Given the description of an element on the screen output the (x, y) to click on. 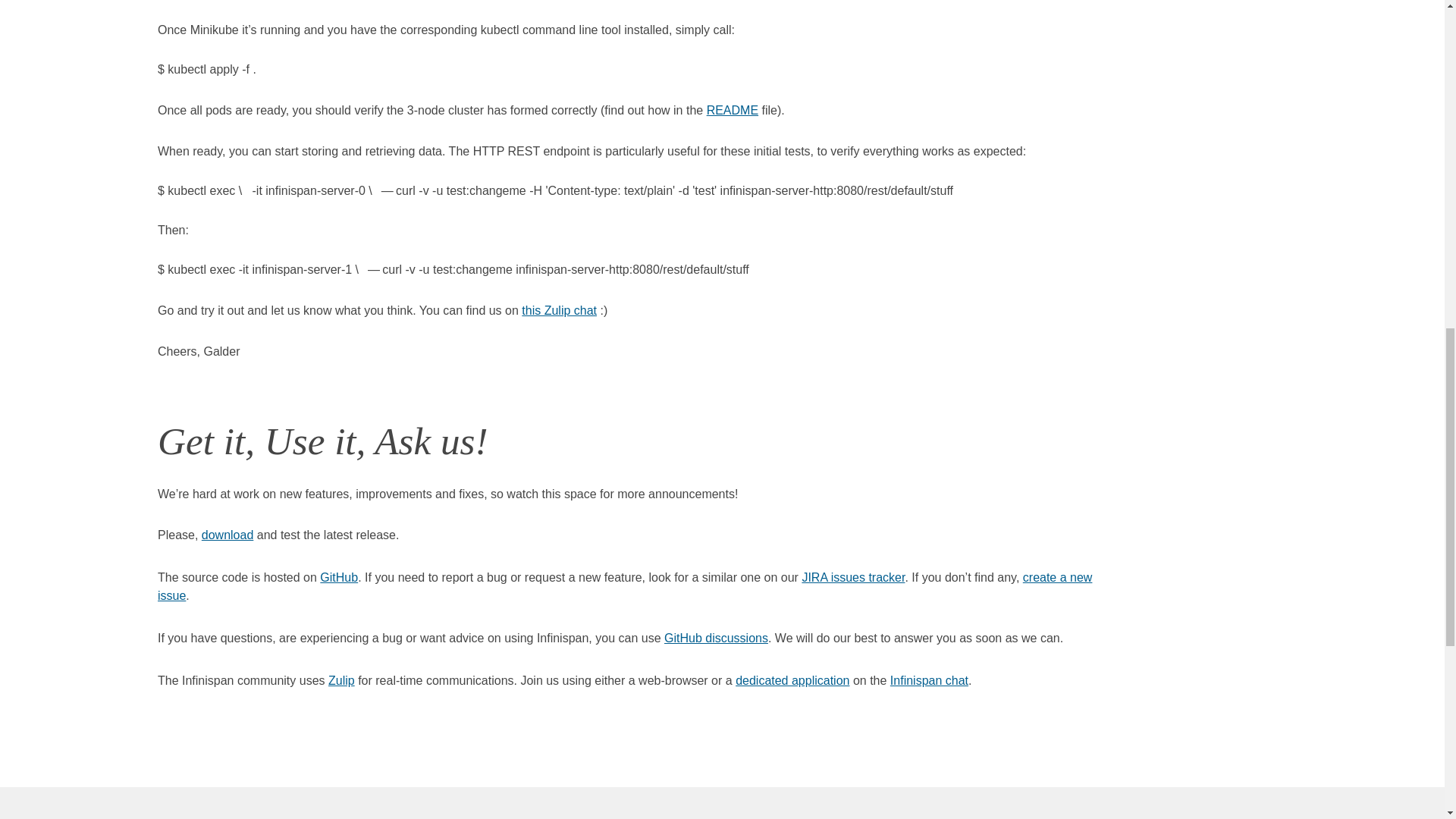
GitHub discussions (715, 637)
create a new issue (624, 585)
Infinispan chat (928, 680)
JIRA issues tracker (853, 576)
this Zulip chat (558, 309)
download (227, 534)
GitHub (339, 576)
README (732, 110)
Zulip (342, 680)
dedicated application (791, 680)
